Given the description of an element on the screen output the (x, y) to click on. 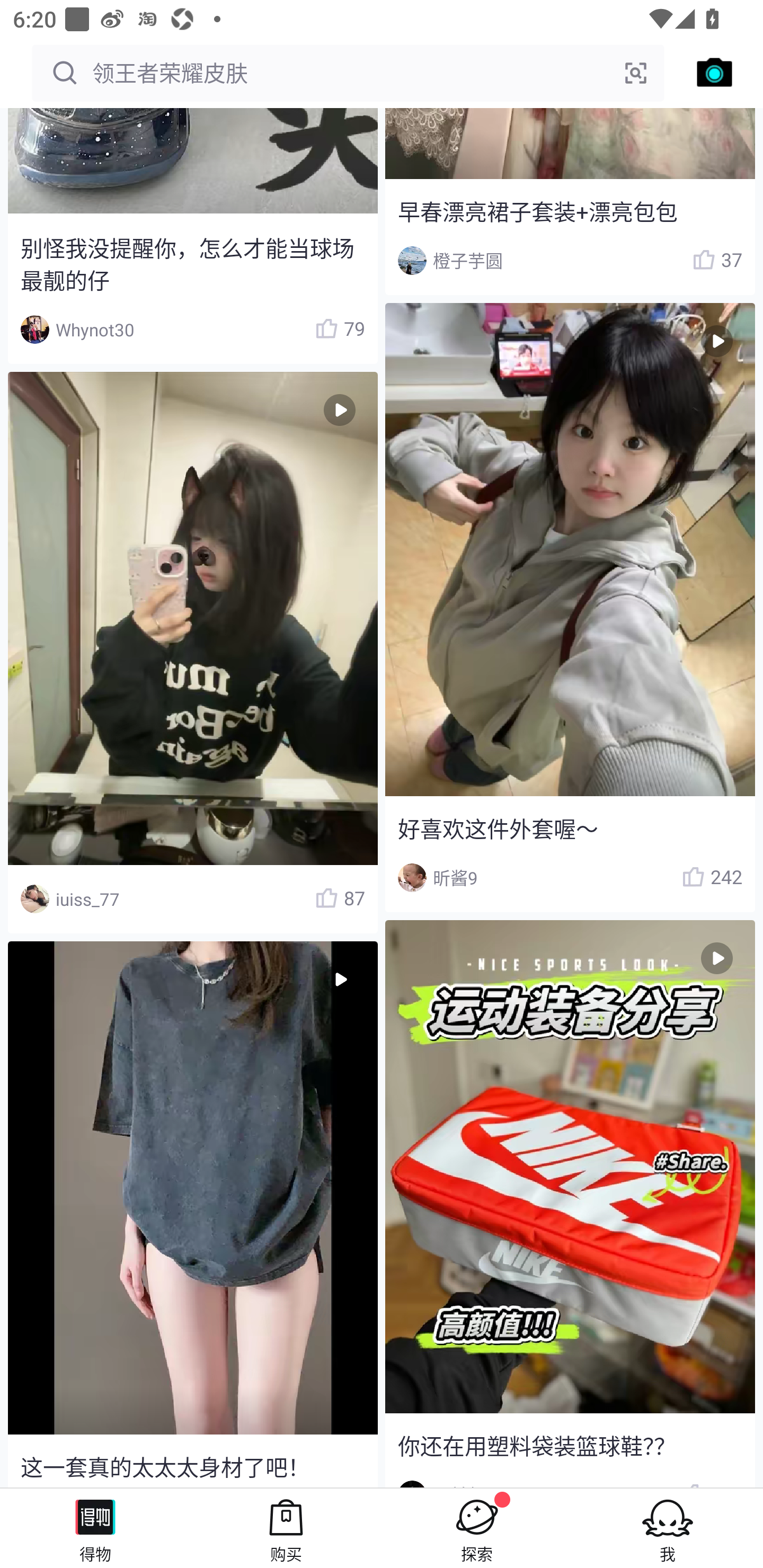
领王者荣耀皮肤 (348, 72)
别怪我没提醒你，怎么才能当球场最靓的仔 Whynot30 79 (192, 235)
早春漂亮裙子套装+漂亮包包 橙子芋圆 37 (570, 201)
好喜欢这件外套喔～ 昕酱9 242 (570, 607)
iuiss_77 87 (192, 651)
你还在用塑料袋装篮球鞋？？ 眼前起雾95 100 (570, 1204)
这一套真的太太太身材了吧！ (192, 1214)
得物 (95, 1528)
购买 (285, 1528)
探索 (476, 1528)
我 (667, 1528)
